Given the description of an element on the screen output the (x, y) to click on. 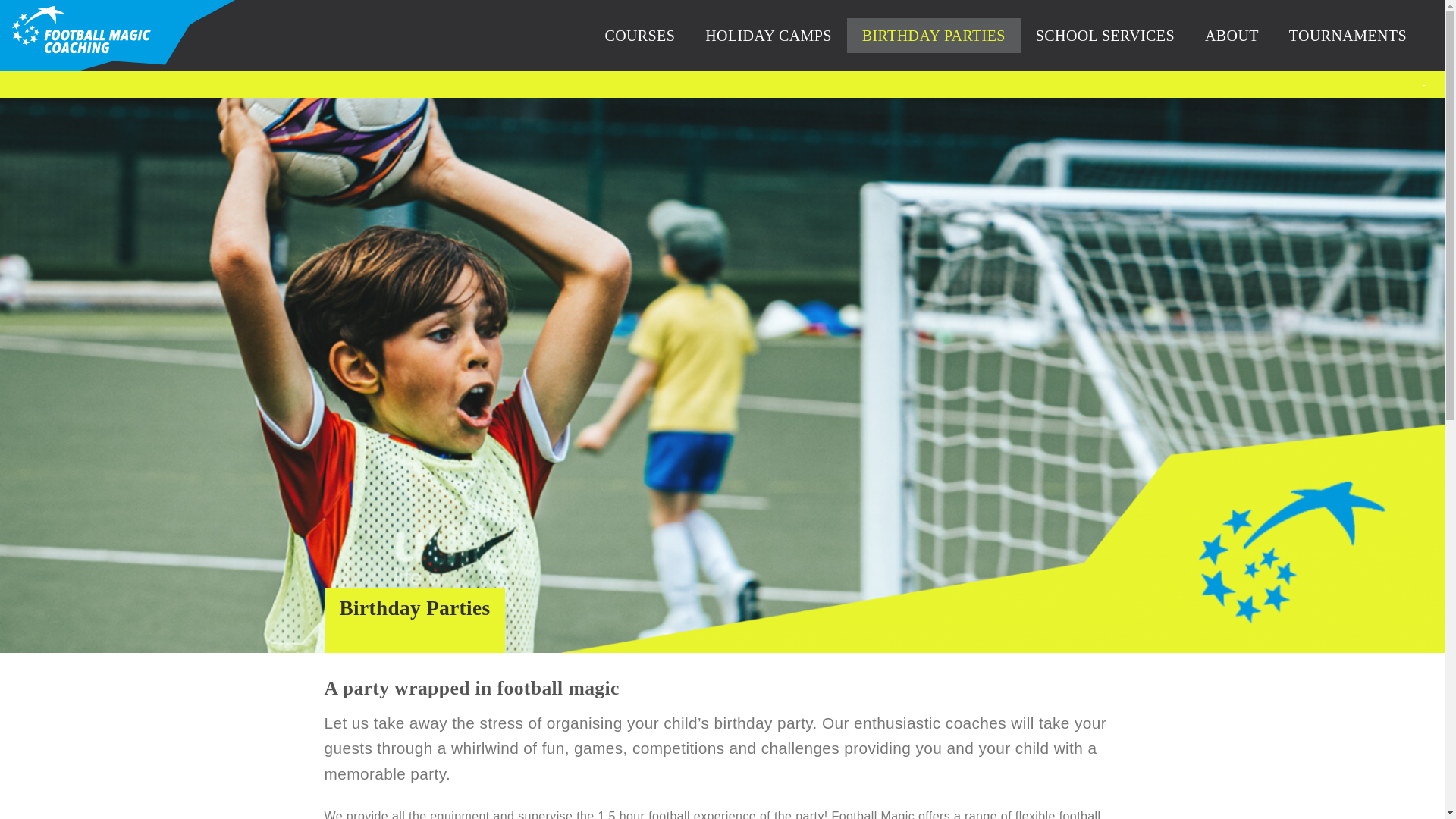
About Football Magic Coaching (1231, 35)
Football camps (768, 35)
FOOTBALL MAGIC COACHING (81, 33)
COURSES (639, 35)
School Football Training  (1104, 35)
Football Magic Coaching - Kids Football Coaching in London. (81, 33)
SCHOOL SERVICES (1104, 35)
HOLIDAY CAMPS (768, 35)
BIRTHDAY PARTIES (933, 35)
Kids Football Training (639, 35)
